Given the description of an element on the screen output the (x, y) to click on. 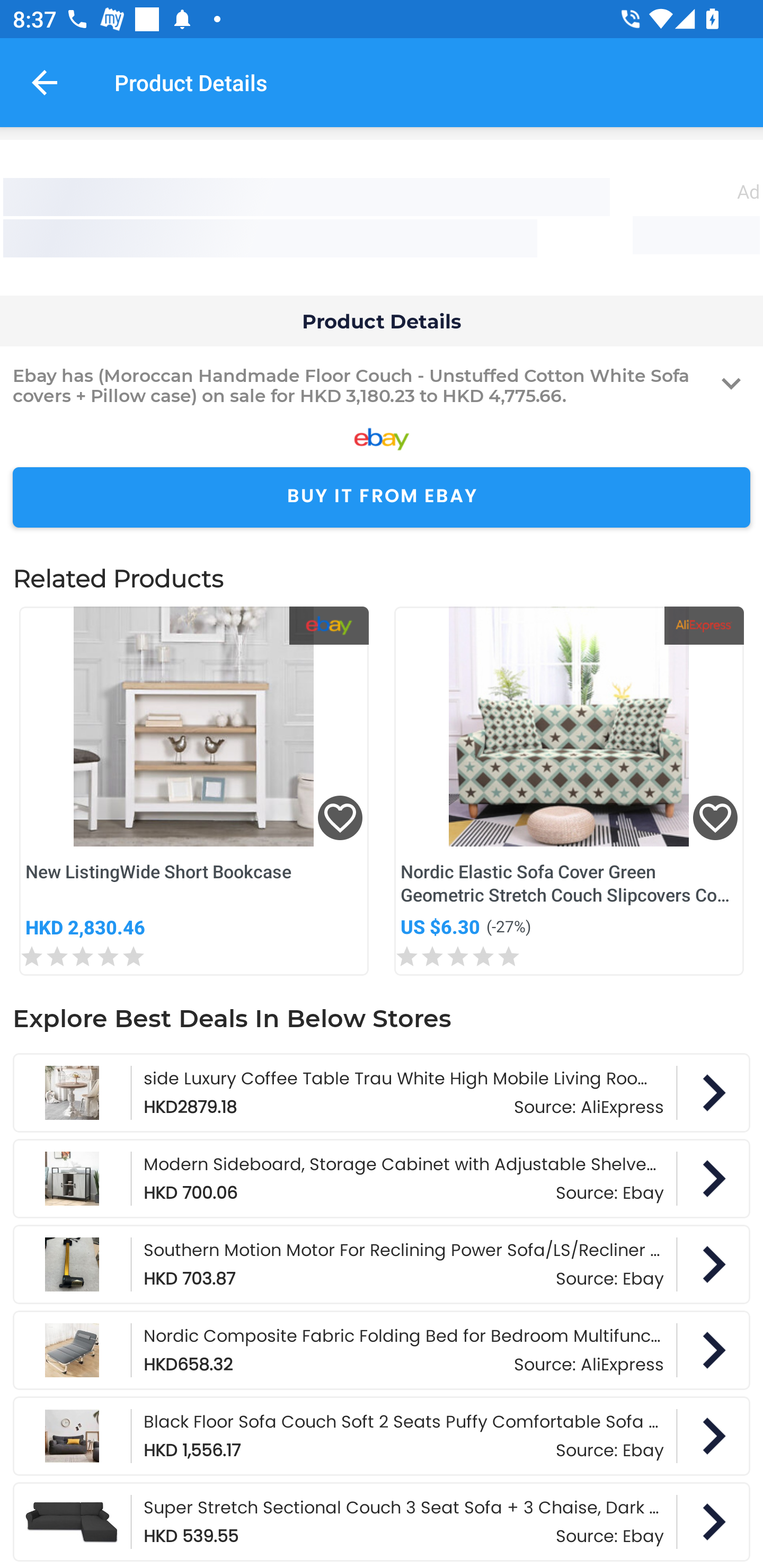
Navigate up (44, 82)
BUY IT FROM EBAY (381, 497)
New ListingWide Short Bookcase HKD 2,830.46 0.0 (193, 790)
